Given the description of an element on the screen output the (x, y) to click on. 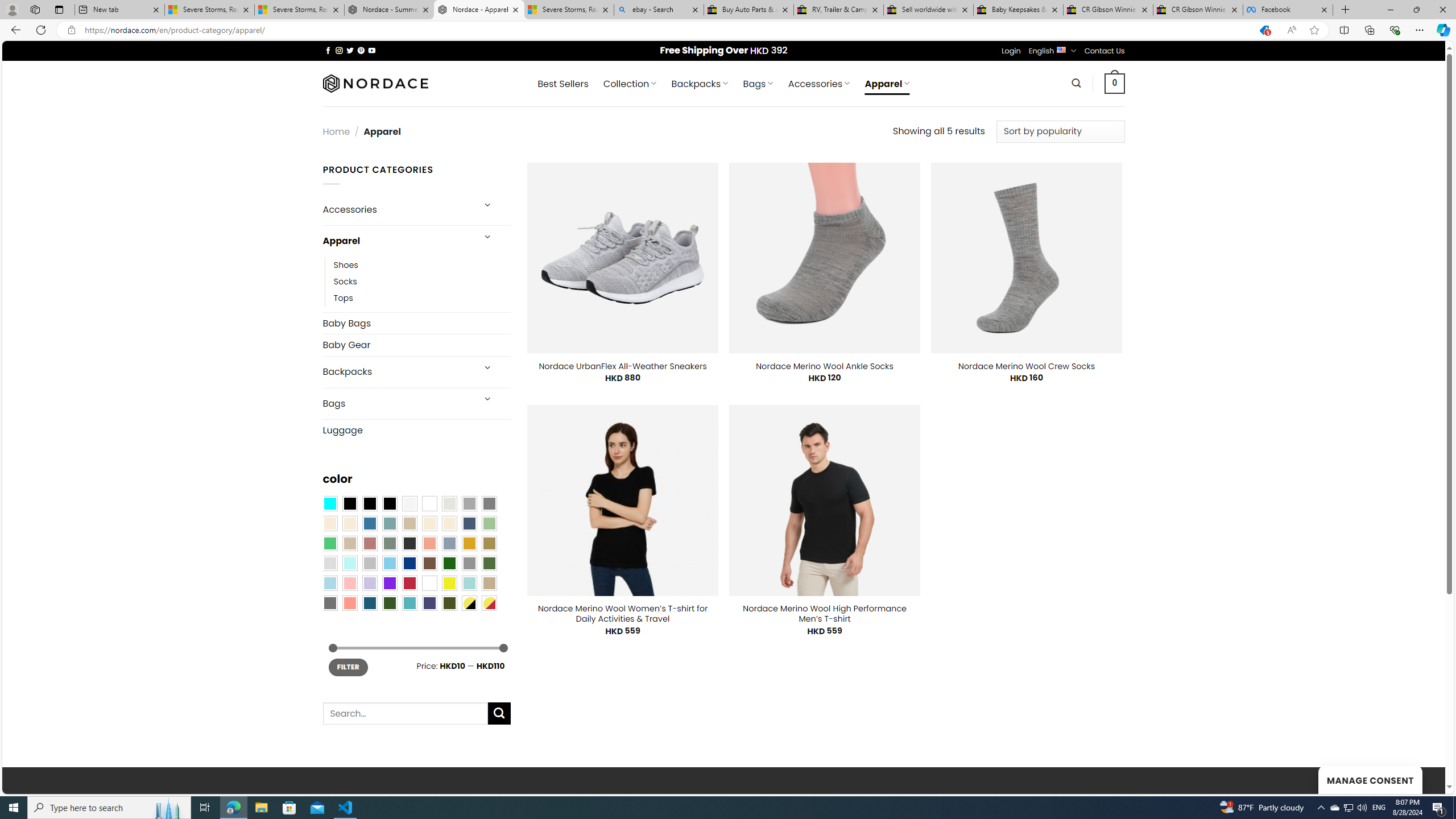
Baby Gear (416, 345)
Bags (397, 403)
Clear (429, 503)
Kelp (488, 542)
Blue Sage (389, 522)
Dark Green (449, 562)
Baby Bags (416, 323)
MANAGE CONSENT (1369, 779)
Hale Navy (468, 522)
  Best Sellers (562, 83)
Sell worldwide with eBay (928, 9)
Red (408, 582)
